Given the description of an element on the screen output the (x, y) to click on. 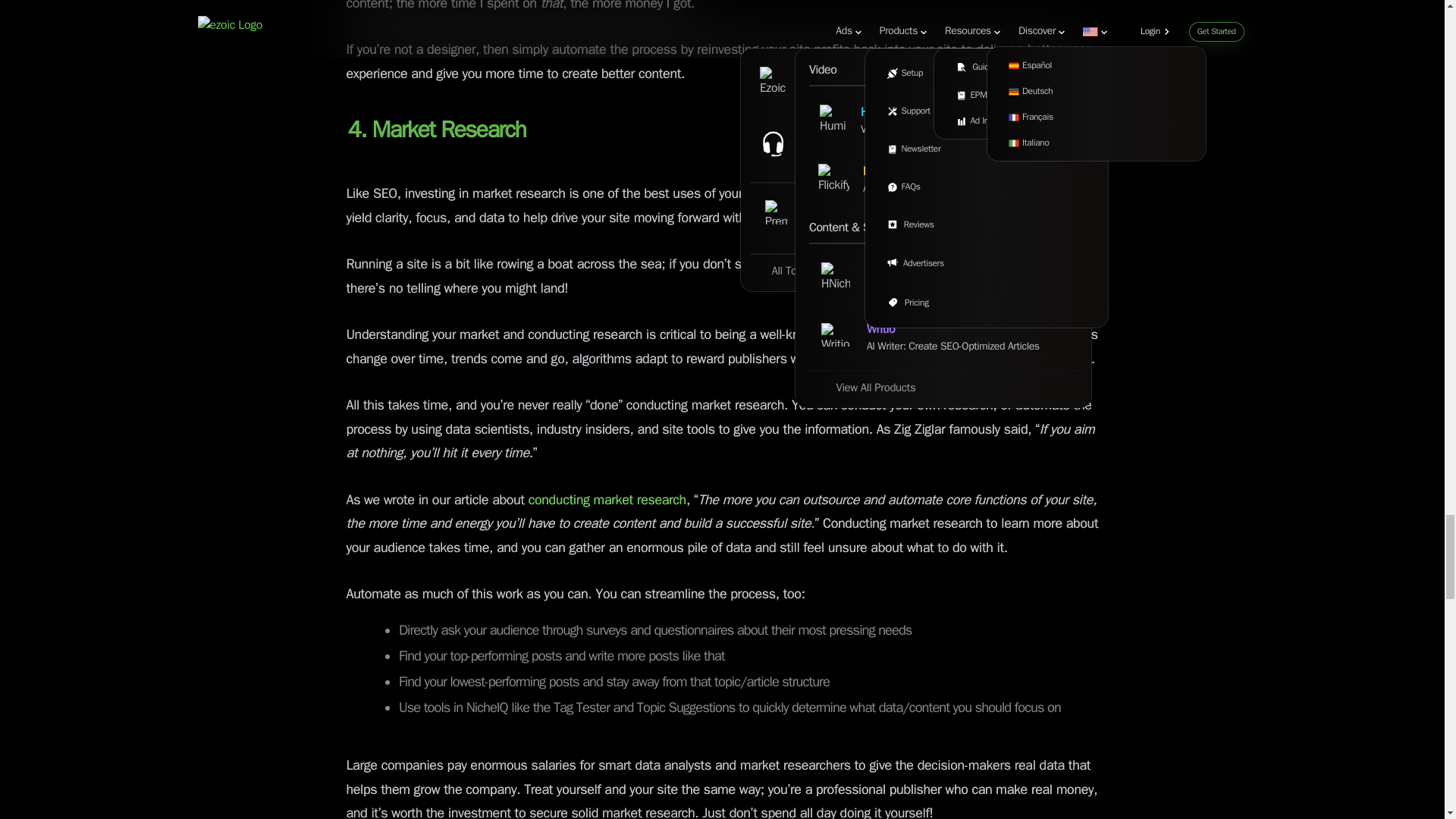
conducting market research (604, 500)
